Given the description of an element on the screen output the (x, y) to click on. 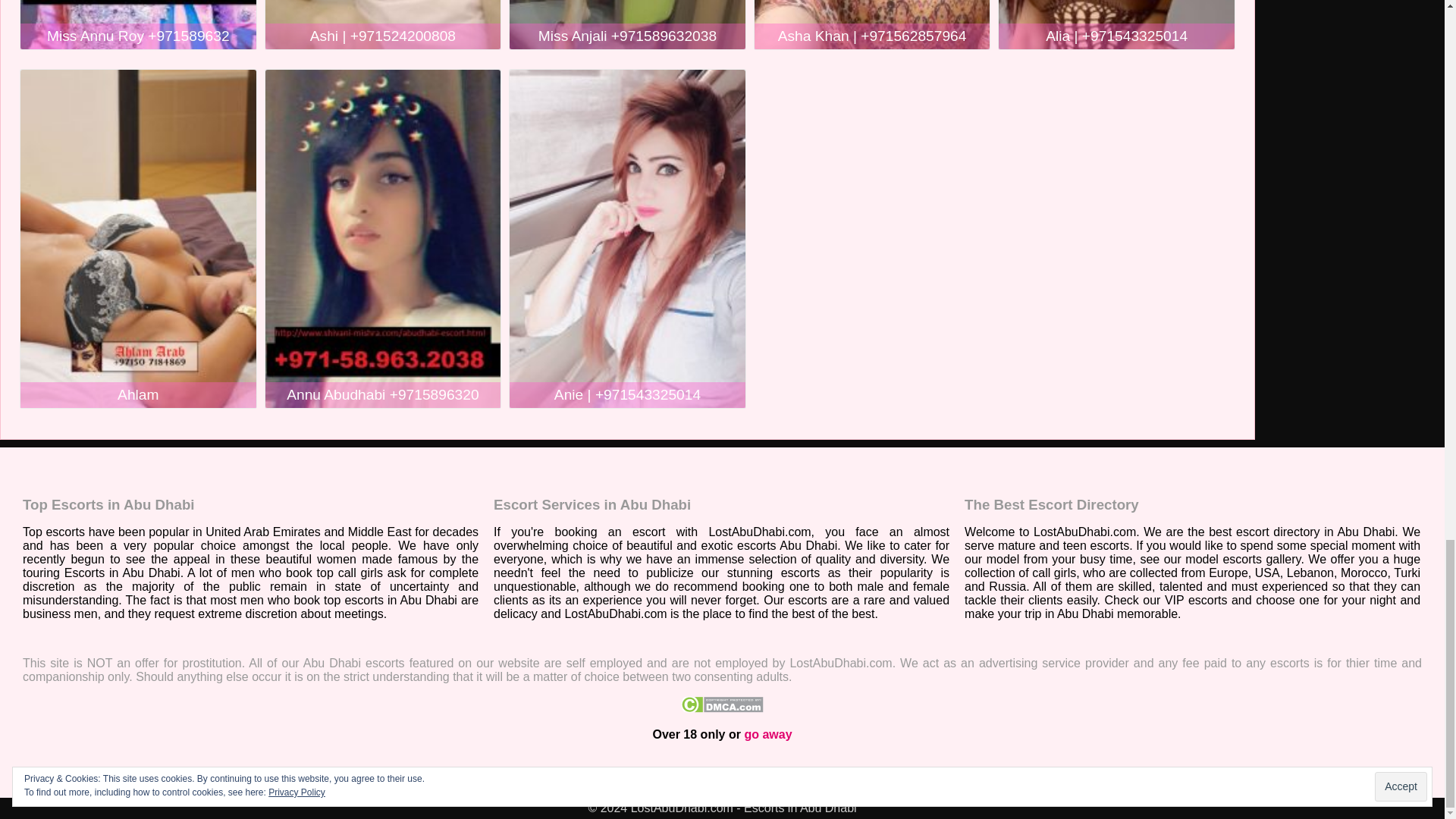
Privacy Policy (270, 775)
go away (768, 734)
Ahlam (137, 394)
Login (150, 775)
LostAbuDhabi.com (74, 775)
Register (199, 775)
Contact (456, 775)
Sitemap (509, 775)
